Given the description of an element on the screen output the (x, y) to click on. 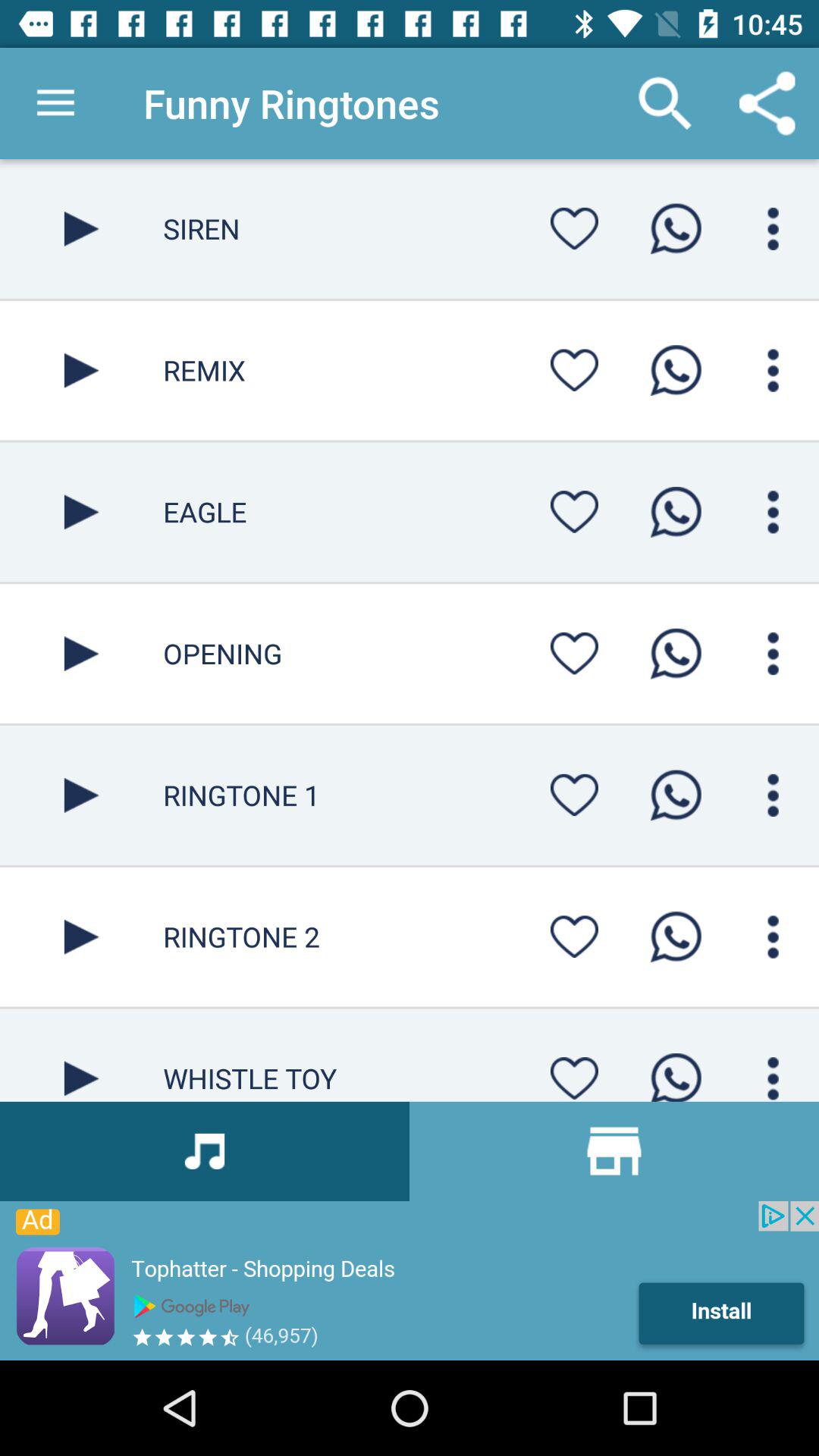
add to favorites (574, 1074)
